Given the description of an element on the screen output the (x, y) to click on. 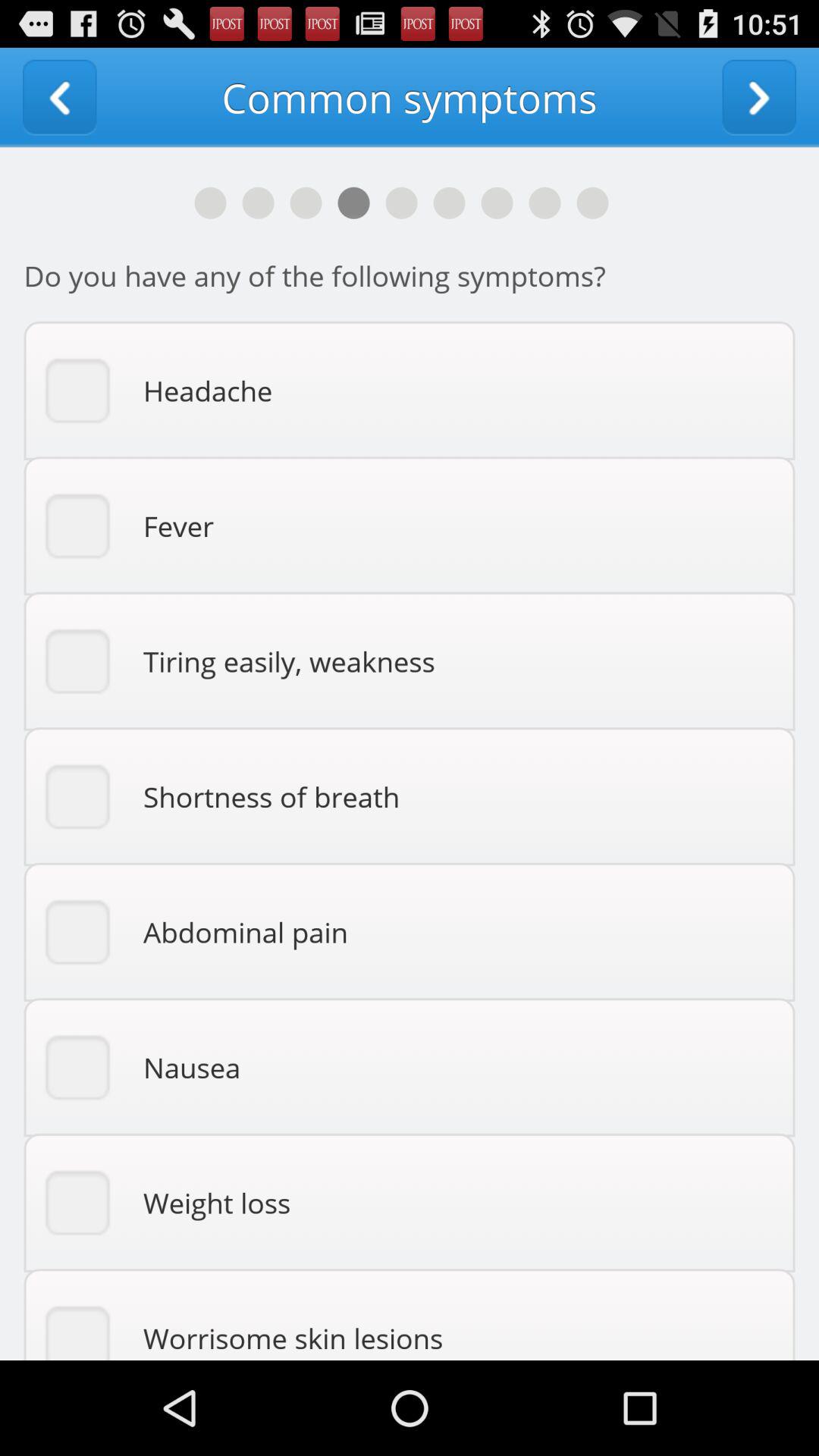
next page (759, 97)
